Given the description of an element on the screen output the (x, y) to click on. 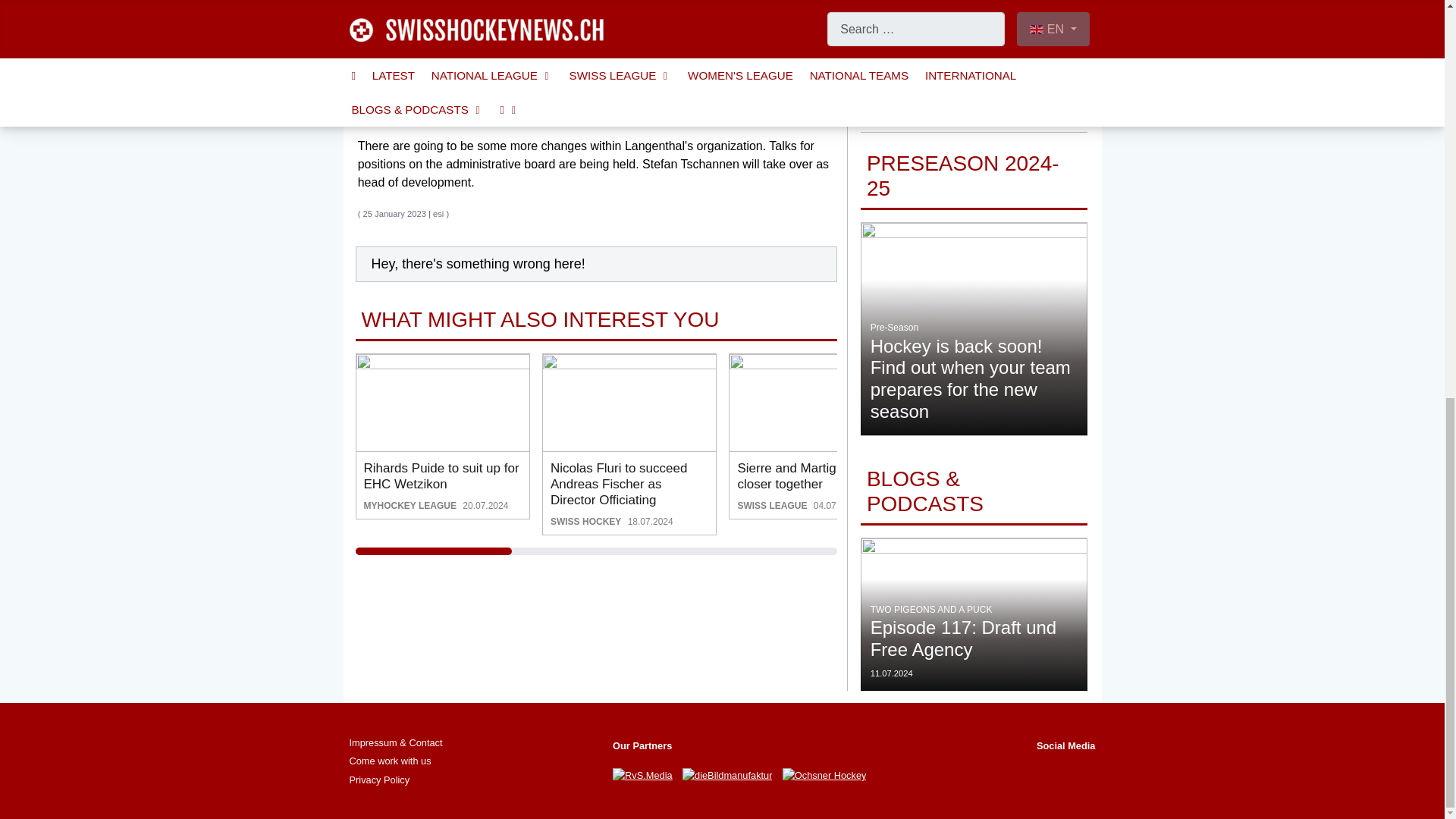
HC Ajoie signs young goalie Kilian Bernasconi from EHC Arosa (1003, 402)
Rihards Puide to suit up for EHC Wetzikon (442, 402)
EHC Olten adds Ramon Schaufelberger to the coaching staff (1189, 402)
Sierre and Martigny to work closer together (815, 402)
